Given the description of an element on the screen output the (x, y) to click on. 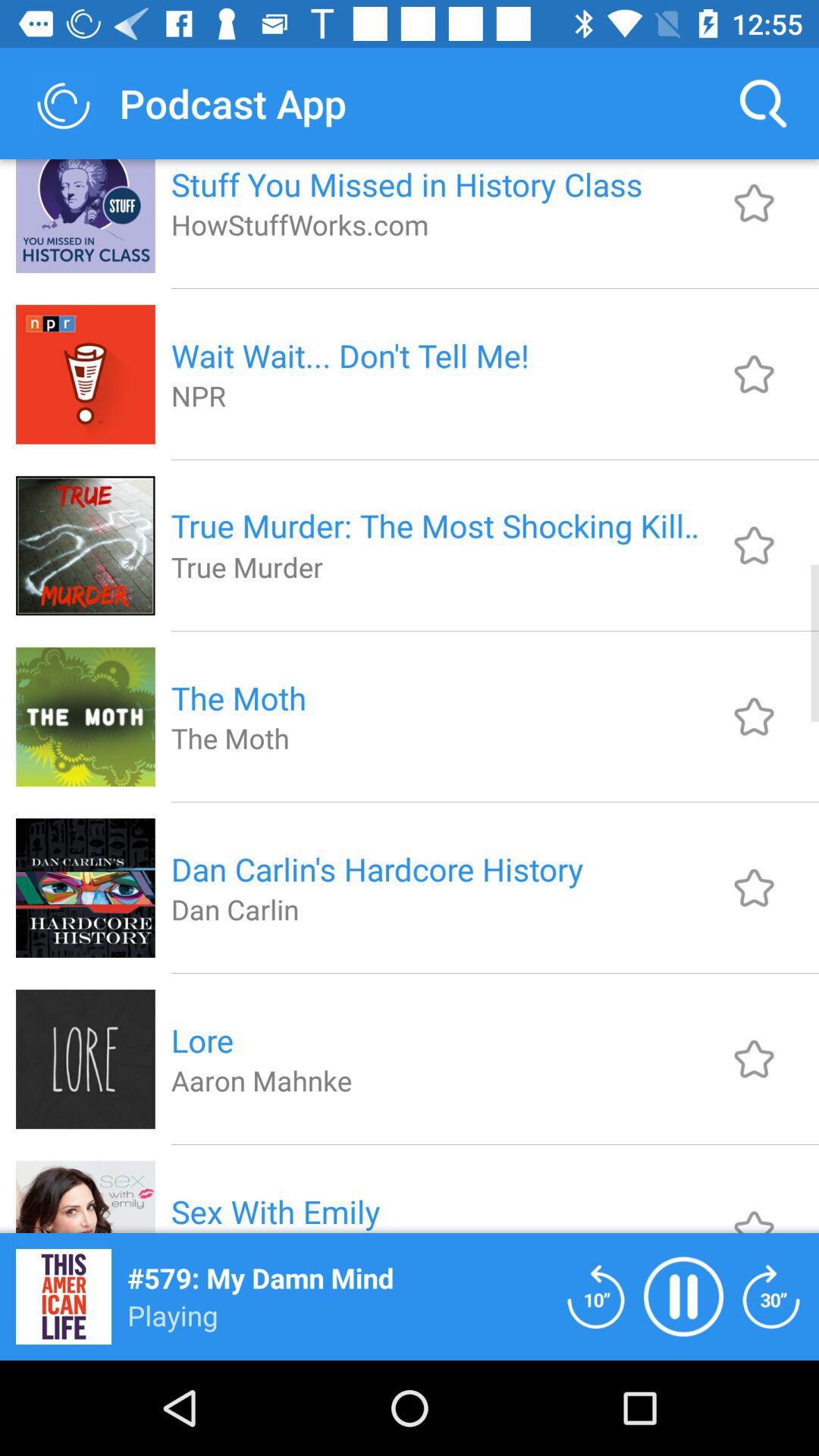
favorite (754, 716)
